Given the description of an element on the screen output the (x, y) to click on. 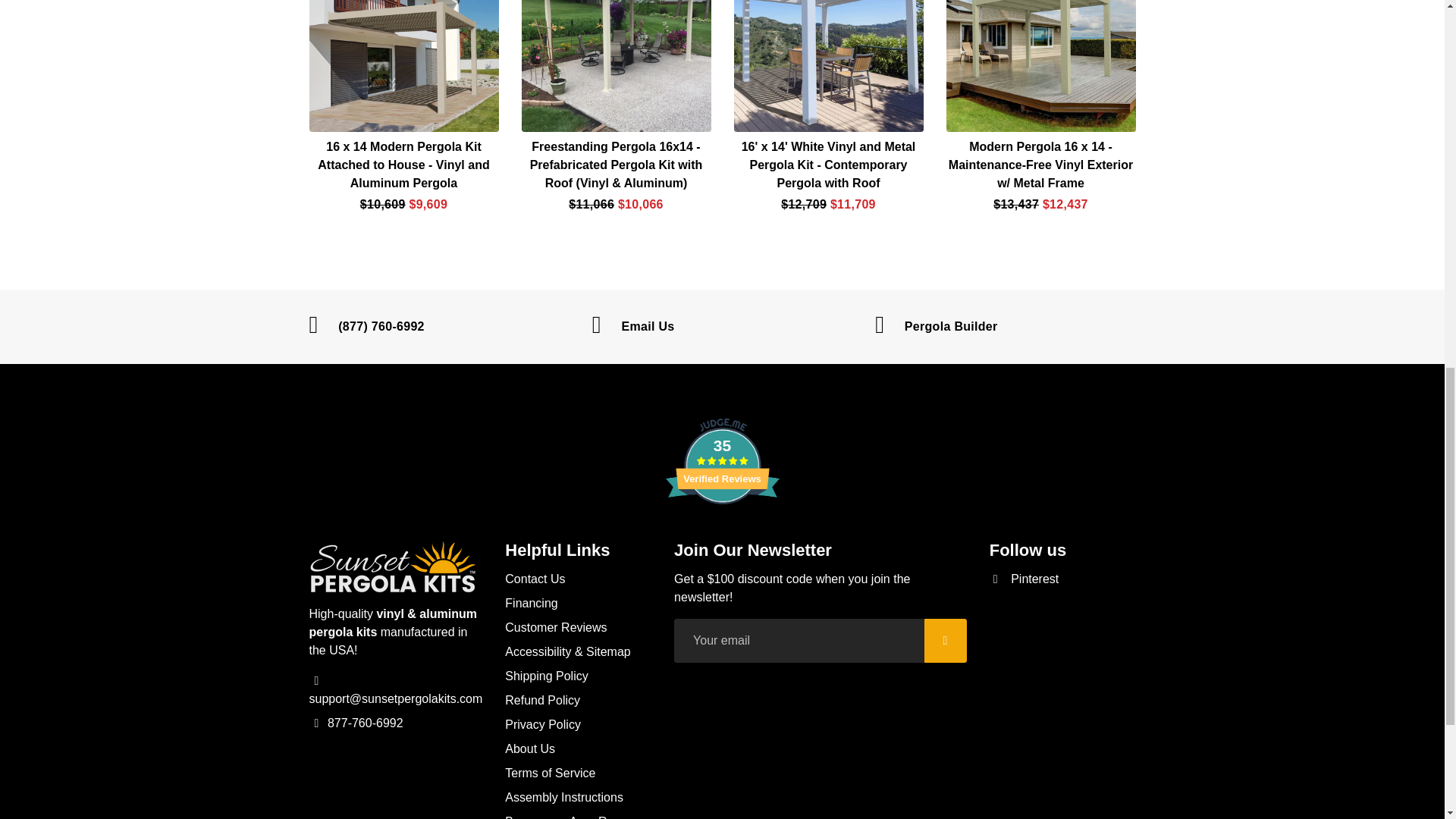
Sunset Pergola Kits on Pinterest (1024, 579)
